Given the description of an element on the screen output the (x, y) to click on. 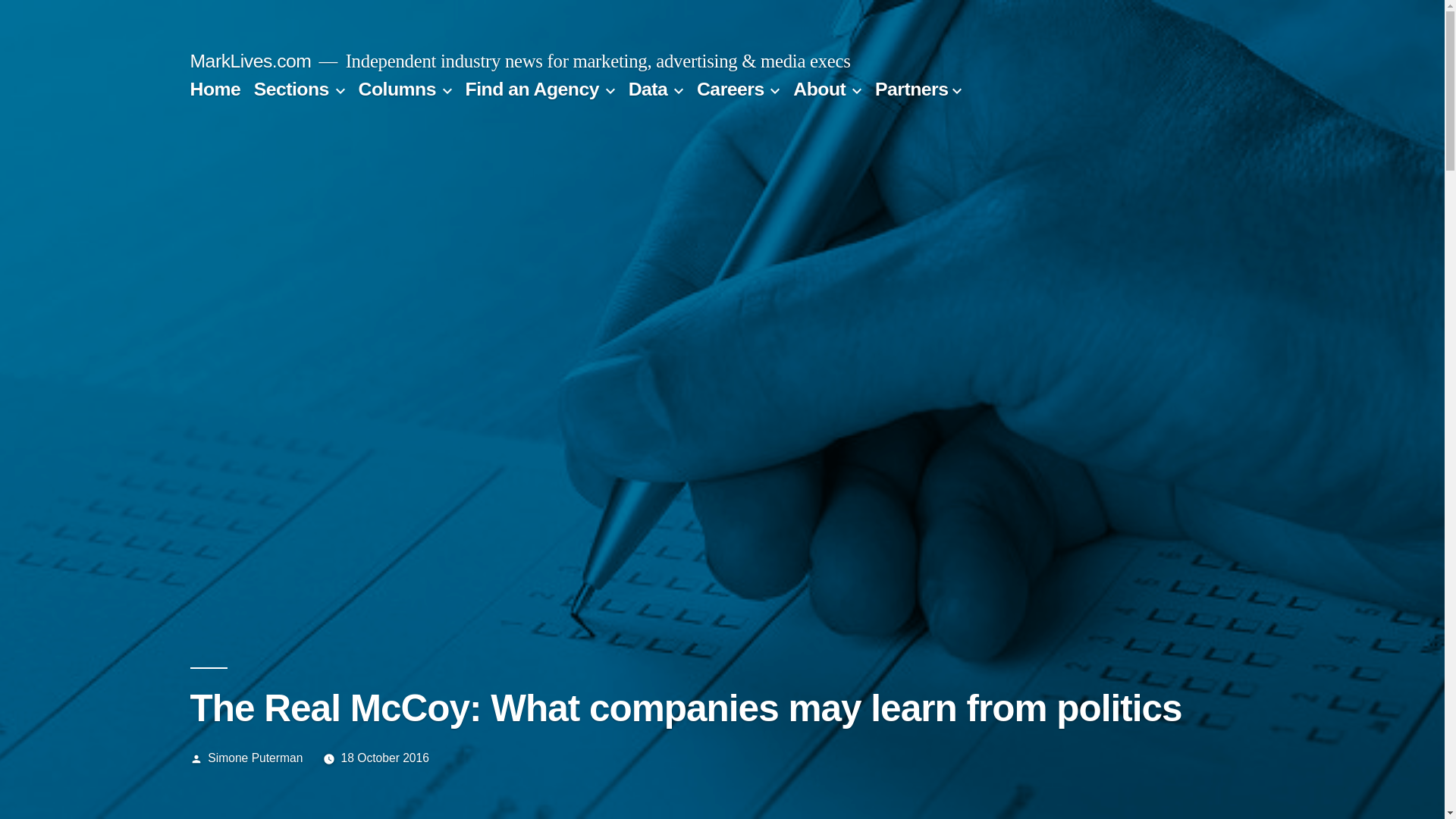
Sections (291, 88)
Home (214, 88)
MarkLives.com (250, 60)
Columns (396, 88)
